Given the description of an element on the screen output the (x, y) to click on. 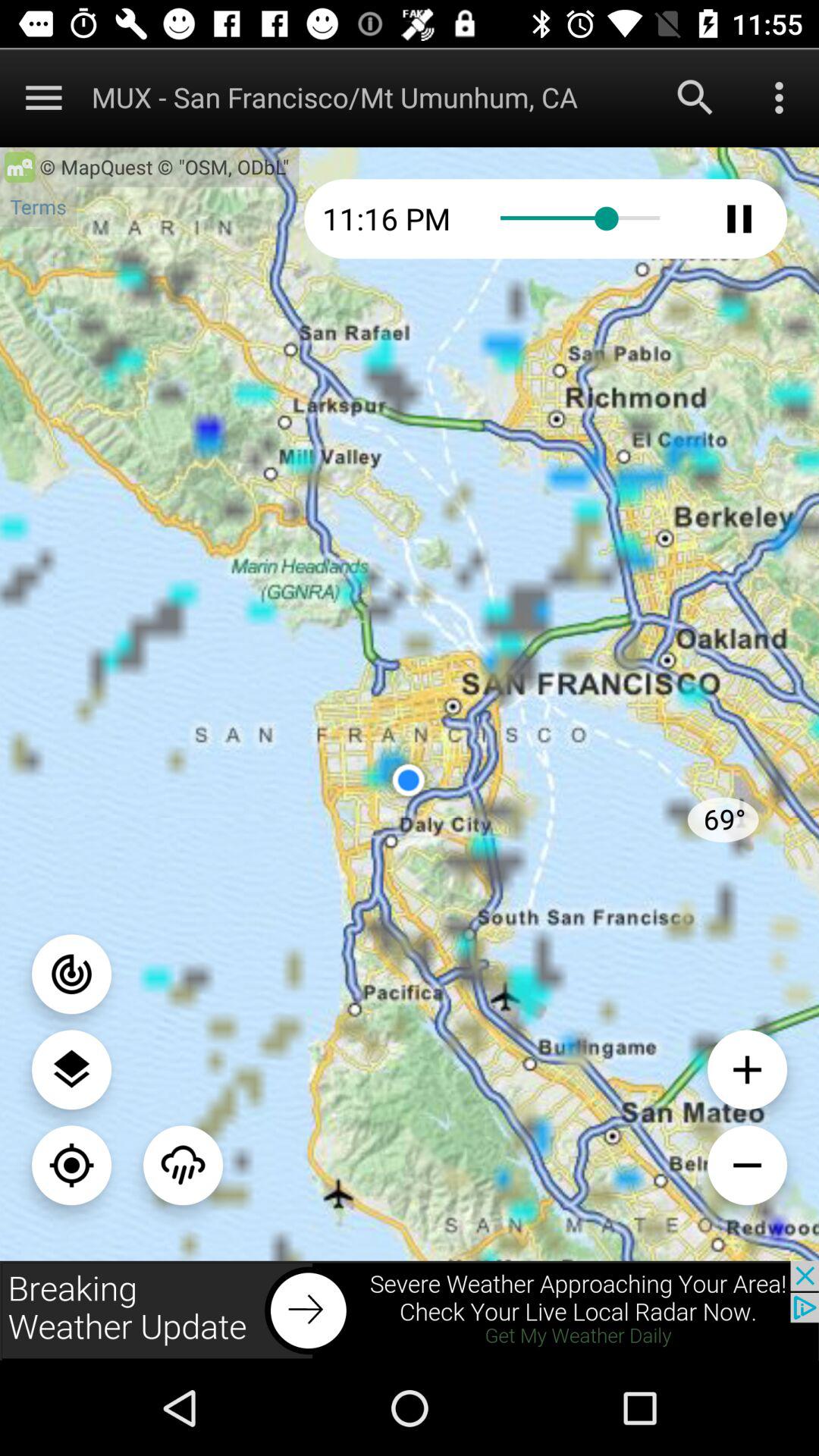
advertising (409, 1310)
